Given the description of an element on the screen output the (x, y) to click on. 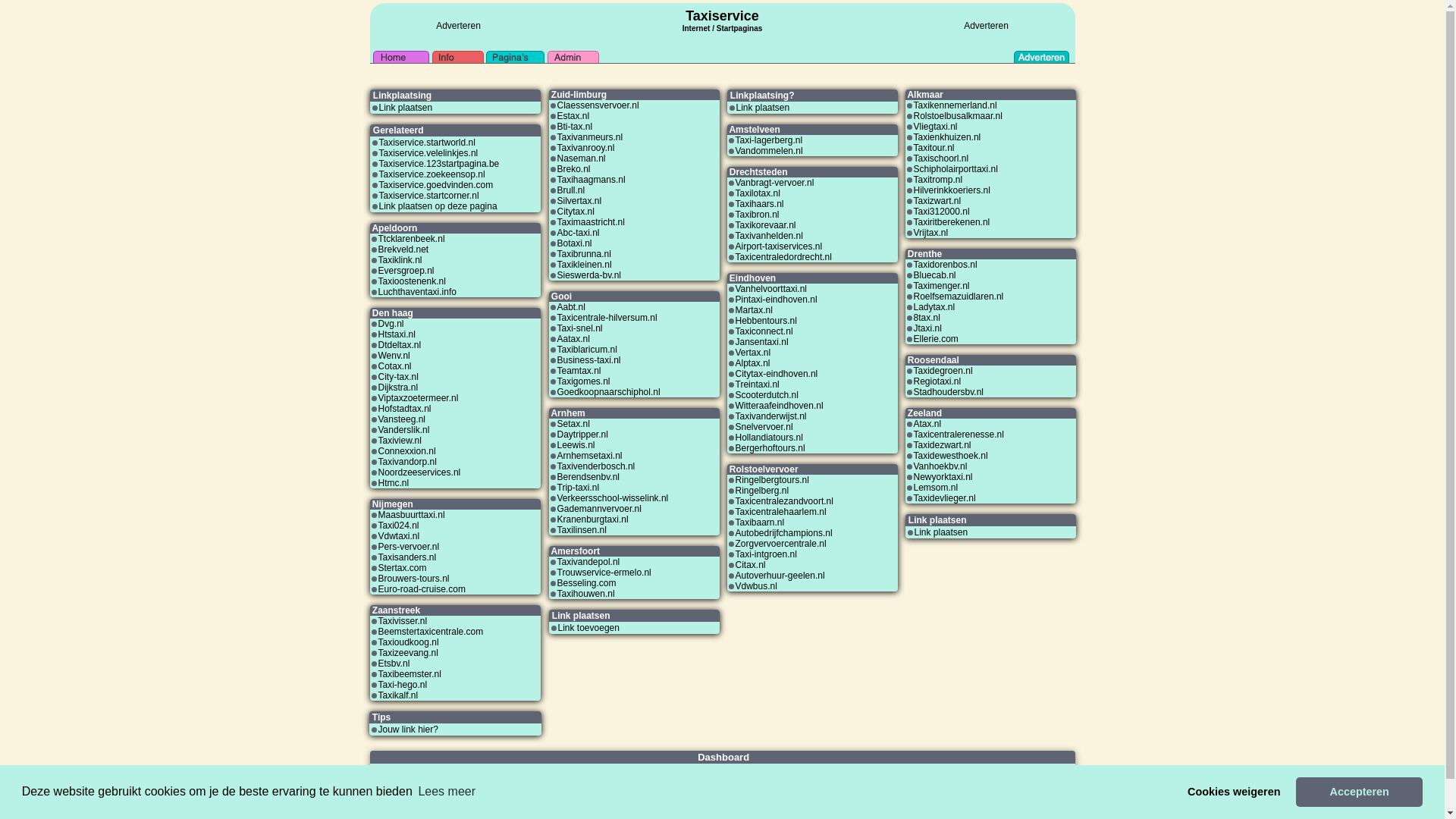
Taxi-lagerberg.nl Element type: text (769, 139)
Vanderslik.nl Element type: text (403, 429)
Kranenburgtaxi.nl Element type: text (591, 519)
Aatax.nl Element type: text (572, 338)
Taxidegroen.nl Element type: text (942, 370)
Lemsom.nl Element type: text (935, 487)
Pers-vervoer.nl Element type: text (408, 546)
Taxiservice.startcorner.nl Element type: text (429, 195)
Link plaatsen Element type: text (941, 532)
Mail webmaster Element type: text (926, 778)
Citytax-eindhoven.nl Element type: text (776, 373)
Aabt.nl Element type: text (570, 306)
Cookies weigeren Element type: text (1233, 791)
Taxiklink.nl Element type: text (399, 259)
Alptax.nl Element type: text (752, 362)
Taxicentralerenesse.nl Element type: text (958, 434)
Taxivisser.nl Element type: text (401, 620)
Htstaxi.nl Element type: text (395, 334)
Roelfsemazuidlaren.nl Element type: text (958, 296)
Taxivandorp.nl Element type: text (406, 461)
Bti-tax.nl Element type: text (574, 126)
Pintaxi-eindhoven.nl Element type: text (776, 299)
Hofstadtax.nl Element type: text (403, 408)
Taxihouwen.nl Element type: text (585, 593)
Zorgvervoercentrale.nl Element type: text (780, 543)
Luchthaventaxi.info Element type: text (416, 291)
123startpagina.be Element type: text (688, 792)
Taxigomes.nl Element type: text (582, 381)
Hilverinkkoeriers.nl Element type: text (951, 190)
Snelvervoer.nl Element type: text (764, 426)
Estax.nl Element type: text (572, 115)
Taxibeemster.nl Element type: text (408, 673)
Jtaxi.nl Element type: text (927, 328)
Besseling.com Element type: text (585, 582)
Abc-taxi.nl Element type: text (577, 232)
Atax.nl Element type: text (927, 423)
Ttcklarenbeek.nl Element type: text (410, 238)
Taxicentrale-hilversum.nl Element type: text (606, 317)
Taxicentralehaarlem.nl Element type: text (780, 511)
Citax.nl Element type: text (750, 564)
Taxiservice.goedvinden.com Element type: text (436, 184)
Daytripper.nl Element type: text (581, 434)
Link plaatsen Element type: text (762, 107)
Taxibron.nl Element type: text (757, 214)
Taxioostenenk.nl Element type: text (411, 281)
Autoverhuur-geelen.nl Element type: text (780, 575)
Witteraafeindhoven.nl Element type: text (779, 405)
Eversgroep.nl Element type: text (405, 270)
Link toevoegen Element type: text (588, 627)
Ringelberg.nl Element type: text (762, 490)
Eigen 123startpagina startpagina Element type: text (782, 792)
Taximenger.nl Element type: text (941, 285)
Euro-road-cruise.com Element type: text (420, 588)
Lees meer Element type: text (446, 791)
Botaxi.nl Element type: text (573, 243)
Verkeersschool-wisselink.nl Element type: text (612, 497)
Taxidewesthoek.nl Element type: text (950, 455)
Taxiblaricum.nl Element type: text (586, 349)
Citytax.nl Element type: text (574, 211)
Breko.nl Element type: text (572, 168)
Link plaatsen Element type: text (406, 107)
Noordzeeservices.nl Element type: text (418, 472)
Taximaastricht.nl Element type: text (590, 221)
Adverteren Element type: text (919, 770)
Accepteren Element type: text (1358, 791)
Taxikalf.nl Element type: text (397, 695)
Martax.nl Element type: text (753, 309)
Taxiservice Element type: text (722, 15)
Schipholairporttaxi.nl Element type: text (955, 168)
Stadhoudersbv.nl Element type: text (948, 391)
Taxiritberekenen.nl Element type: text (951, 221)
Stertax.com Element type: text (401, 567)
Taxivanhelden.nl Element type: text (769, 235)
Rolstoelbusalkmaar.nl Element type: text (957, 115)
Taxi024.nl Element type: text (397, 525)
Dvg.nl Element type: text (390, 323)
Taxiconnect.nl Element type: text (764, 331)
Naseman.nl Element type: text (580, 158)
Ellerie.com Element type: text (935, 338)
Vanhoekbv.nl Element type: text (939, 466)
Sieswerda-bv.nl Element type: text (588, 274)
Taxitromp.nl Element type: text (937, 179)
Gademannvervoer.nl Element type: text (598, 508)
Bergerhoftours.nl Element type: text (770, 447)
Link plaatsen op deze pagina Element type: text (438, 205)
Taxi-snel.nl Element type: text (579, 328)
Vrijtax.nl Element type: text (930, 232)
Taxi-hego.nl Element type: text (401, 684)
Vanhelvoorttaxi.nl Element type: text (771, 288)
Taxivandepol.nl Element type: text (587, 561)
Adverteren Element type: text (985, 25)
Taxizwart.nl Element type: text (936, 200)
Linkplaatsing Element type: text (395, 770)
Dijkstra.nl Element type: text (397, 387)
Brouwers-tours.nl Element type: text (412, 578)
Business-taxi.nl Element type: text (588, 359)
Adverteren Element type: text (458, 25)
Vdwbus.nl Element type: text (756, 585)
Taxiservice.zoekeensop.nl Element type: text (432, 174)
Vdwtaxi.nl Element type: text (398, 535)
Htmc.nl Element type: text (392, 482)
Airport-taxiservices.nl Element type: text (778, 246)
Internet Element type: text (696, 26)
Silvertax.nl Element type: text (578, 200)
Trouwservice-ermelo.nl Element type: text (603, 572)
Newyorktaxi.nl Element type: text (942, 476)
Cotax.nl Element type: text (394, 365)
Taxi312000.nl Element type: text (941, 211)
Etsbv.nl Element type: text (393, 663)
Vertax.nl Element type: text (753, 352)
Taxiview.nl Element type: text (398, 440)
Autobedrijfchampions.nl Element type: text (783, 532)
Leewis.nl Element type: text (575, 444)
Viptaxzoetermeer.nl Element type: text (417, 397)
Jouw link hier? Element type: text (407, 729)
Taxiservice.velelinkjes.nl Element type: text (428, 152)
Taxikennemerland.nl Element type: text (954, 105)
Taxilinsen.nl Element type: text (580, 529)
Taxicentraledordrecht.nl Element type: text (783, 256)
Link ruilen Element type: text (390, 778)
Treintaxi.nl Element type: text (757, 384)
Taxizeevang.nl Element type: text (407, 652)
City-tax.nl Element type: text (397, 376)
Vansteeg.nl Element type: text (401, 419)
Taxioudkoog.nl Element type: text (407, 642)
Taxikorevaar.nl Element type: text (765, 224)
Brekveld.net Element type: text (402, 249)
Taxischoorl.nl Element type: text (940, 158)
Wenv.nl Element type: text (393, 355)
Taxitour.nl Element type: text (933, 147)
Bluecab.nl Element type: text (934, 274)
Taxibrunna.nl Element type: text (583, 253)
Taxiservice.startworld.nl Element type: text (427, 142)
Taxidorenbos.nl Element type: text (944, 264)
Hebbentours.nl Element type: text (766, 320)
Vliegtaxi.nl Element type: text (935, 126)
Scooterdutch.nl Element type: text (766, 394)
Taxidevlieger.nl Element type: text (944, 497)
Taxihaagmans.nl Element type: text (590, 179)
8tax.nl Element type: text (926, 317)
Startpaginas Element type: text (739, 28)
Dtdeltax.nl Element type: text (398, 344)
Claessensvervoer.nl Element type: text (597, 105)
Vanbragt-vervoer.nl Element type: text (774, 182)
Trip-taxi.nl Element type: text (577, 487)
Taxikleinen.nl Element type: text (583, 264)
Brull.nl Element type: text (570, 190)
Regiotaxi.nl Element type: text (936, 381)
Jansentaxi.nl Element type: text (761, 341)
Setax.nl Element type: text (572, 423)
Taxienkhuizen.nl Element type: text (946, 136)
Arnhemsetaxi.nl Element type: text (588, 455)
Ladytax.nl Element type: text (933, 306)
Taxibaarn.nl Element type: text (759, 522)
Taxidezwart.nl Element type: text (941, 444)
Taxisanders.nl Element type: text (406, 557)
Maasbuurttaxi.nl Element type: text (410, 514)
Beemstertaxicentrale.com Element type: text (430, 631)
Taxivenderbosch.nl Element type: text (595, 466)
Ringelbergtours.nl Element type: text (772, 479)
Hollandiatours.nl Element type: text (769, 437)
Vandommelen.nl Element type: text (769, 150)
Taxicentralezandvoort.nl Element type: text (784, 500)
Berendsenbv.nl Element type: text (587, 476)
Taxi-intgroen.nl Element type: text (766, 554)
Goedkoopnaarschiphol.nl Element type: text (607, 391)
Teamtax.nl Element type: text (578, 370)
Taxivanmeurs.nl Element type: text (589, 136)
Taxiservice.123startpagina.be Element type: text (439, 163)
Taxivanderwijst.nl Element type: text (770, 416)
Taxivanrooy.nl Element type: text (585, 147)
Taxilotax.nl Element type: text (757, 193)
Connexxion.nl Element type: text (406, 450)
Taxihaars.nl Element type: text (759, 203)
